Given the description of an element on the screen output the (x, y) to click on. 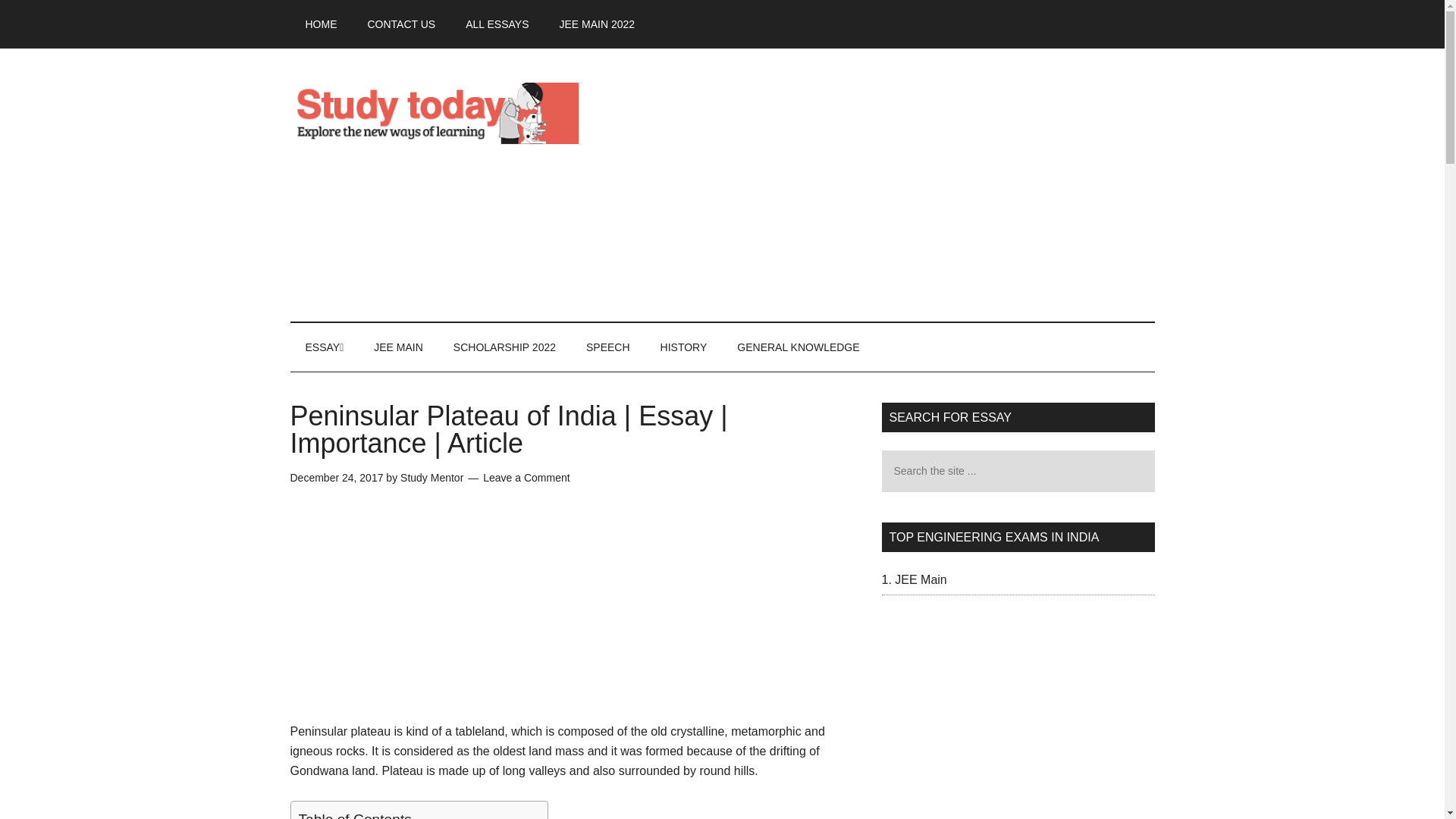
HOME (320, 24)
JEE MAIN (398, 346)
Advertisement (878, 184)
Study Today (433, 112)
CONTACT US (400, 24)
Study Mentor (431, 477)
SPEECH (607, 346)
Advertisement (574, 615)
